Given the description of an element on the screen output the (x, y) to click on. 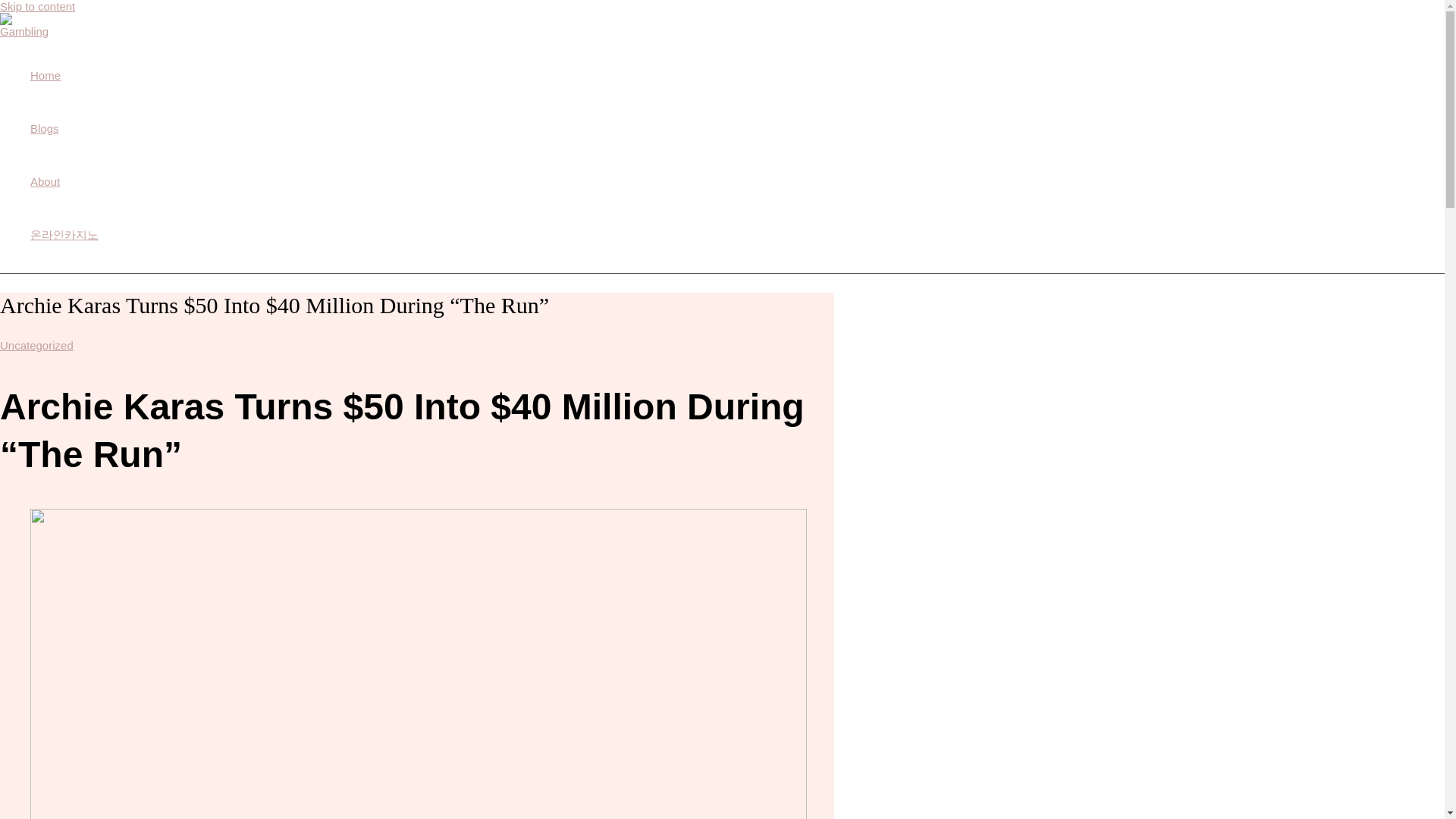
Blogs (64, 128)
Home (64, 75)
Uncategorized (37, 345)
Skip to content (37, 6)
Skip to content (37, 6)
About (64, 181)
